Given the description of an element on the screen output the (x, y) to click on. 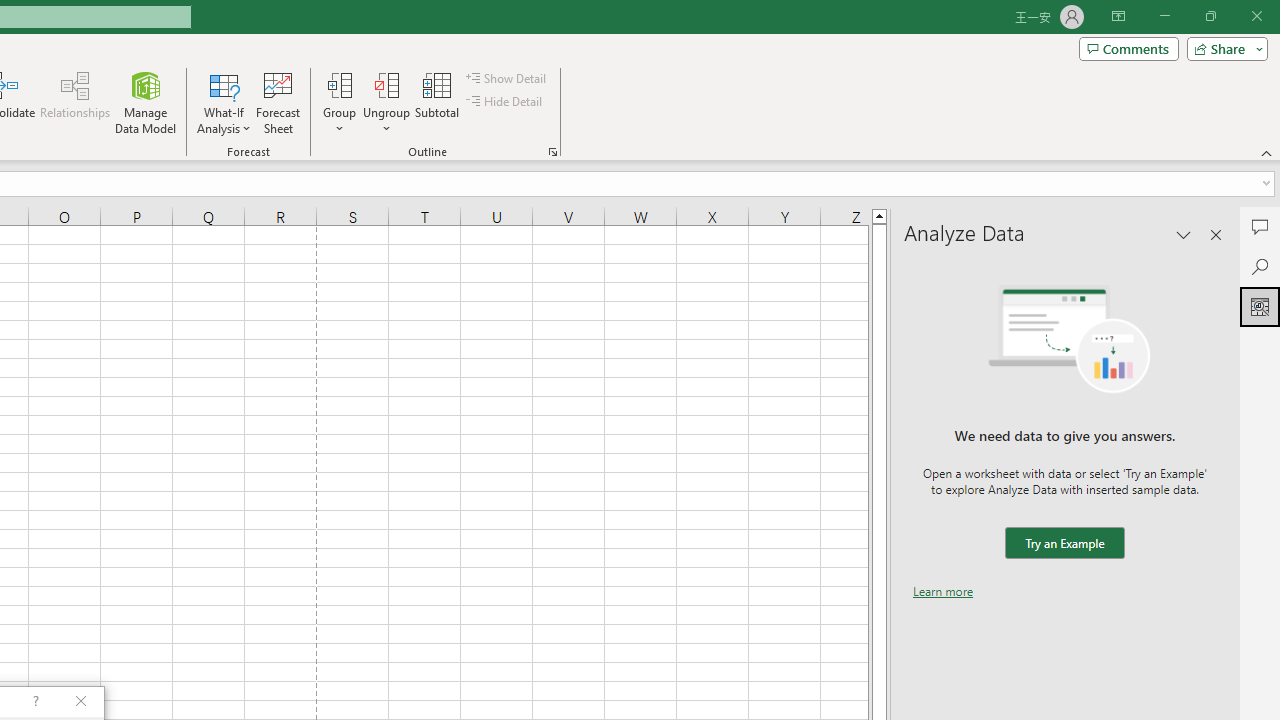
Task Pane Options (1183, 234)
Group... (339, 84)
Comments (1128, 48)
Comments (1260, 226)
Close pane (1215, 234)
Share (1223, 48)
Hide Detail (505, 101)
Line up (879, 215)
Close (1256, 16)
Ungroup... (386, 84)
Subtotal (437, 102)
Ribbon Display Options (1118, 16)
Analyze Data (1260, 306)
